Given the description of an element on the screen output the (x, y) to click on. 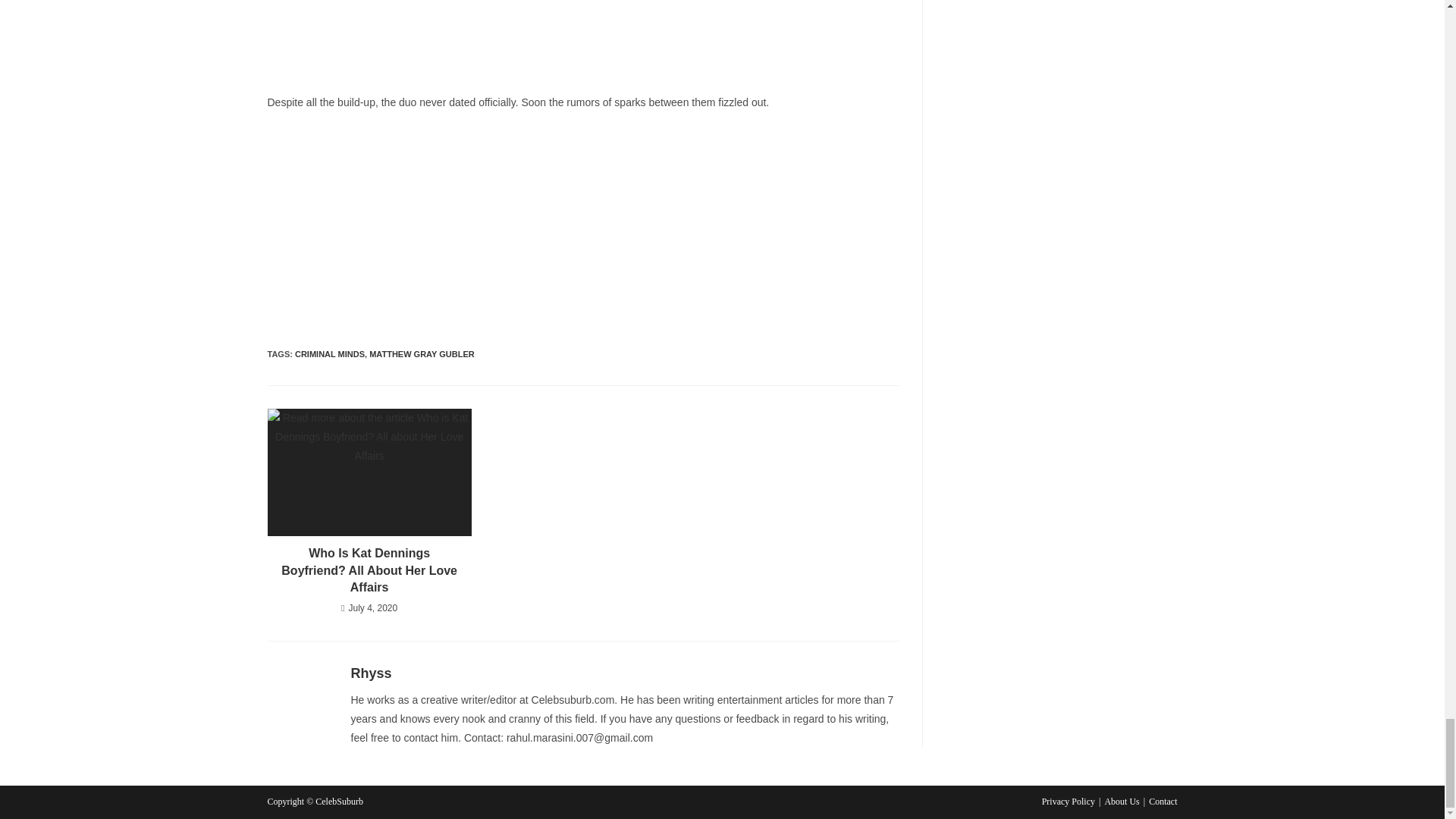
Visit author page (370, 672)
MATTHEW GRAY GUBLER (421, 353)
Rhyss (370, 672)
Who Is Kat Dennings Boyfriend? All About Her Love Affairs (368, 570)
CRIMINAL MINDS (330, 353)
